Given the description of an element on the screen output the (x, y) to click on. 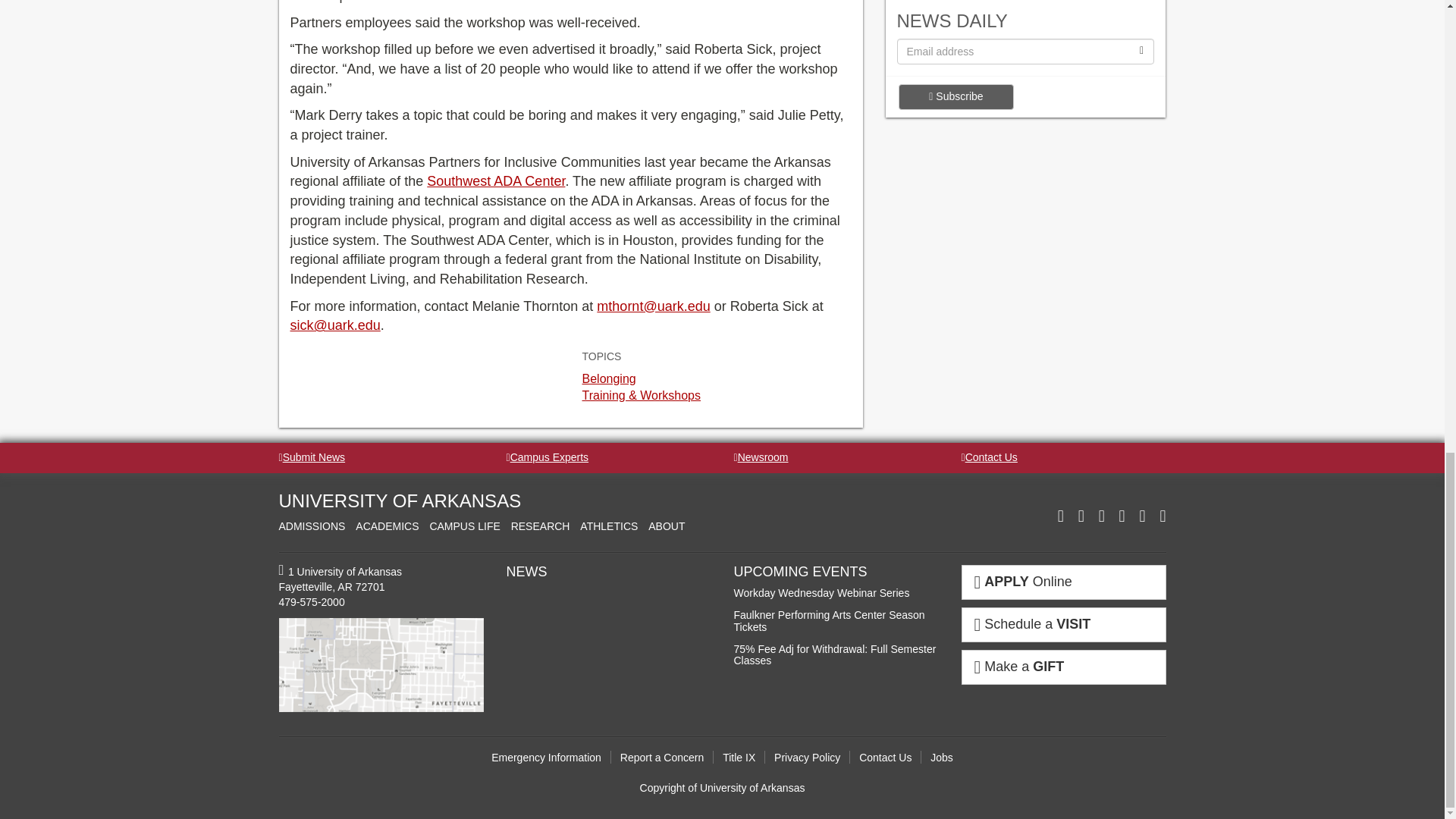
University of Arkansas Admissions (312, 526)
ADMISSIONS (312, 526)
About the University of Arkansas (665, 526)
University of Arkansas Research (540, 526)
ACADEMICS (387, 526)
RESEARCH (540, 526)
Title IX (738, 757)
Contact Us (988, 457)
University of Arkansas Emergency Information (547, 757)
Report a Concern (662, 757)
